Given the description of an element on the screen output the (x, y) to click on. 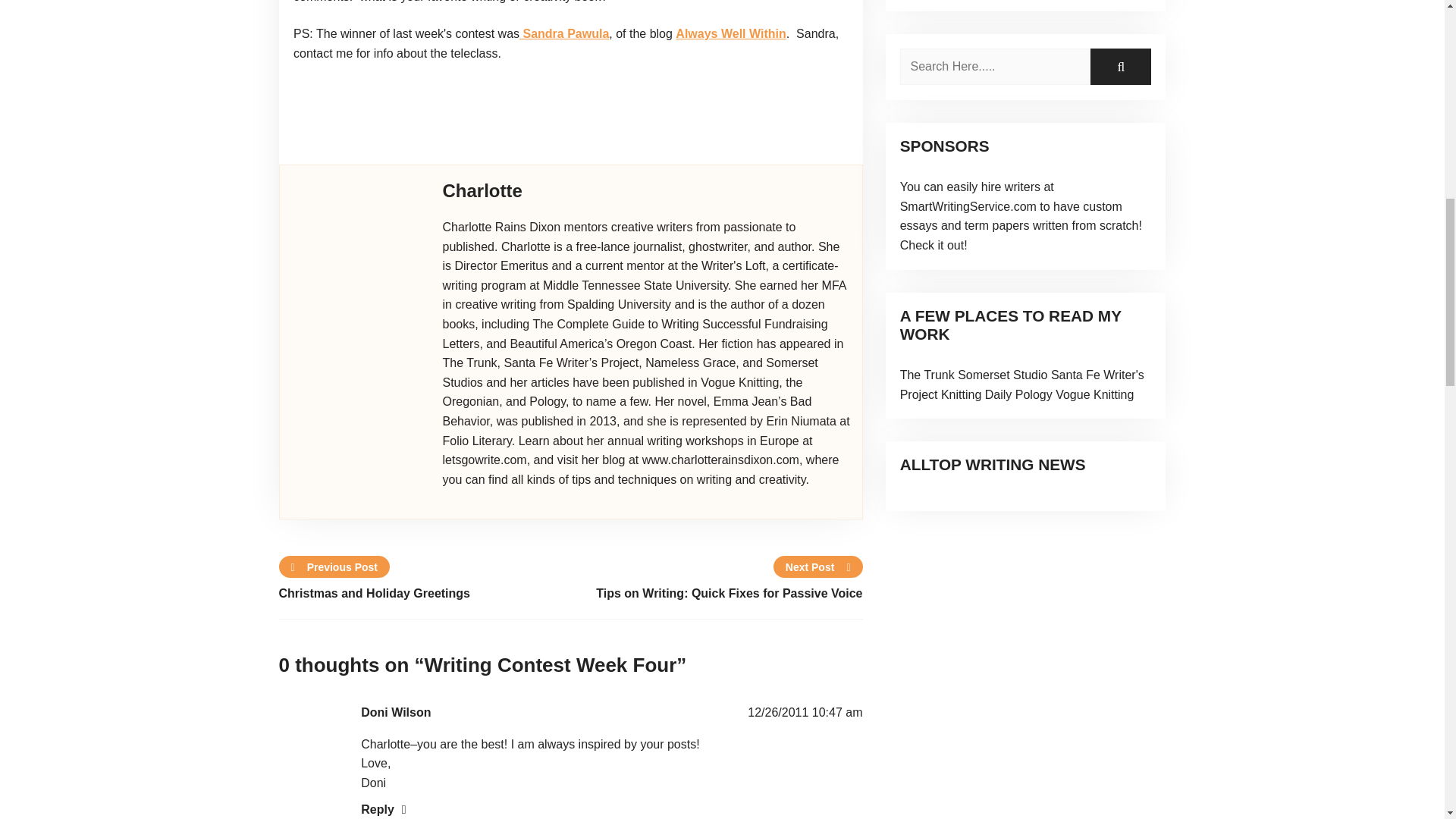
Always Well Within (730, 33)
Tips on Writing: Quick Fixes for Passive Voice (715, 593)
Sandra Pawula (563, 33)
Reply (383, 809)
Christmas and Holiday Greetings (424, 593)
